Given the description of an element on the screen output the (x, y) to click on. 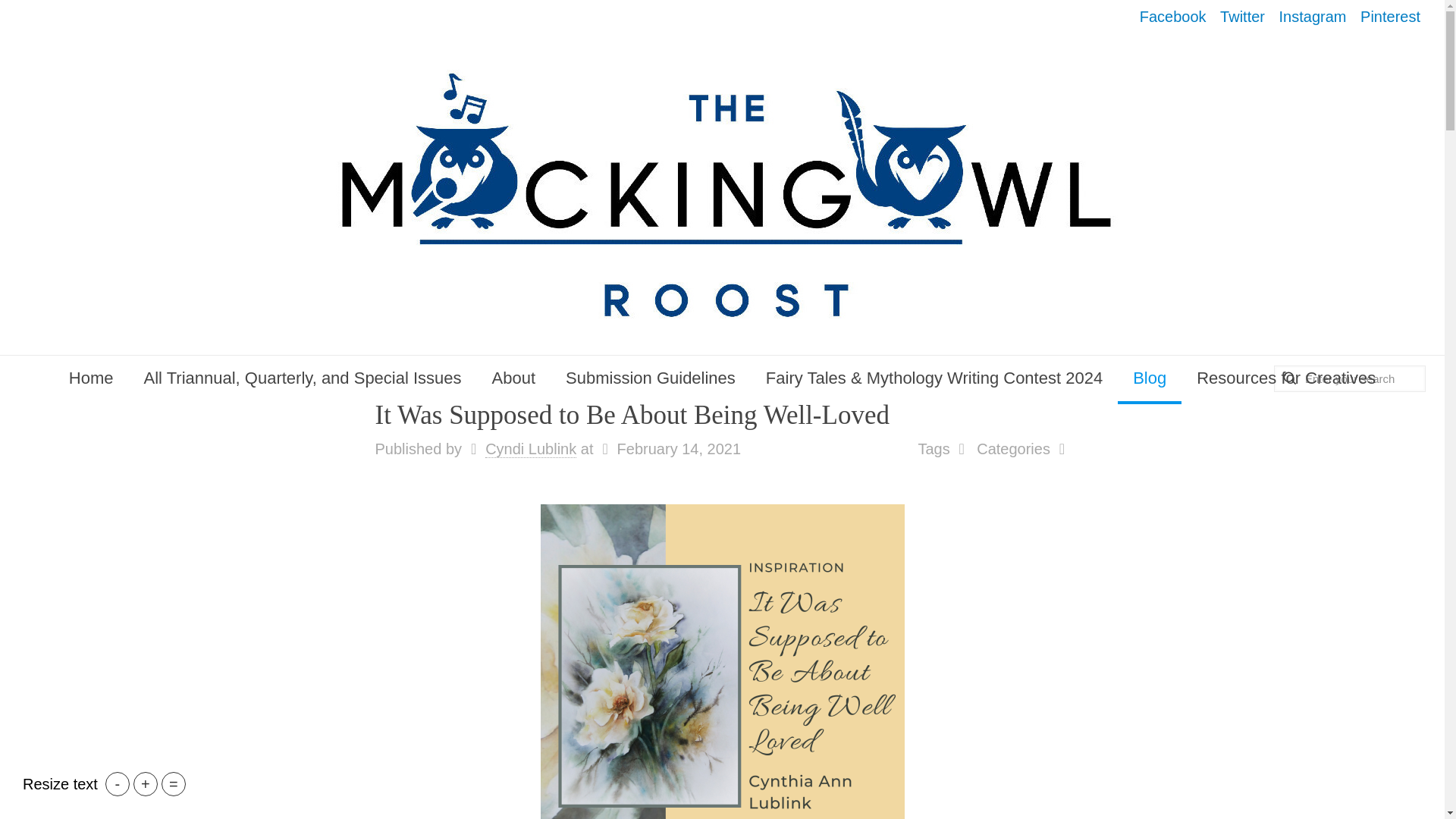
Increase text size (145, 784)
Pinterest (1390, 16)
Twitter (1242, 16)
Submission Guidelines (650, 378)
Facebook (1173, 16)
Reset text size (173, 784)
All Triannual, Quarterly, and Special Issues (303, 378)
Instagram (1312, 16)
About (514, 378)
